Given the description of an element on the screen output the (x, y) to click on. 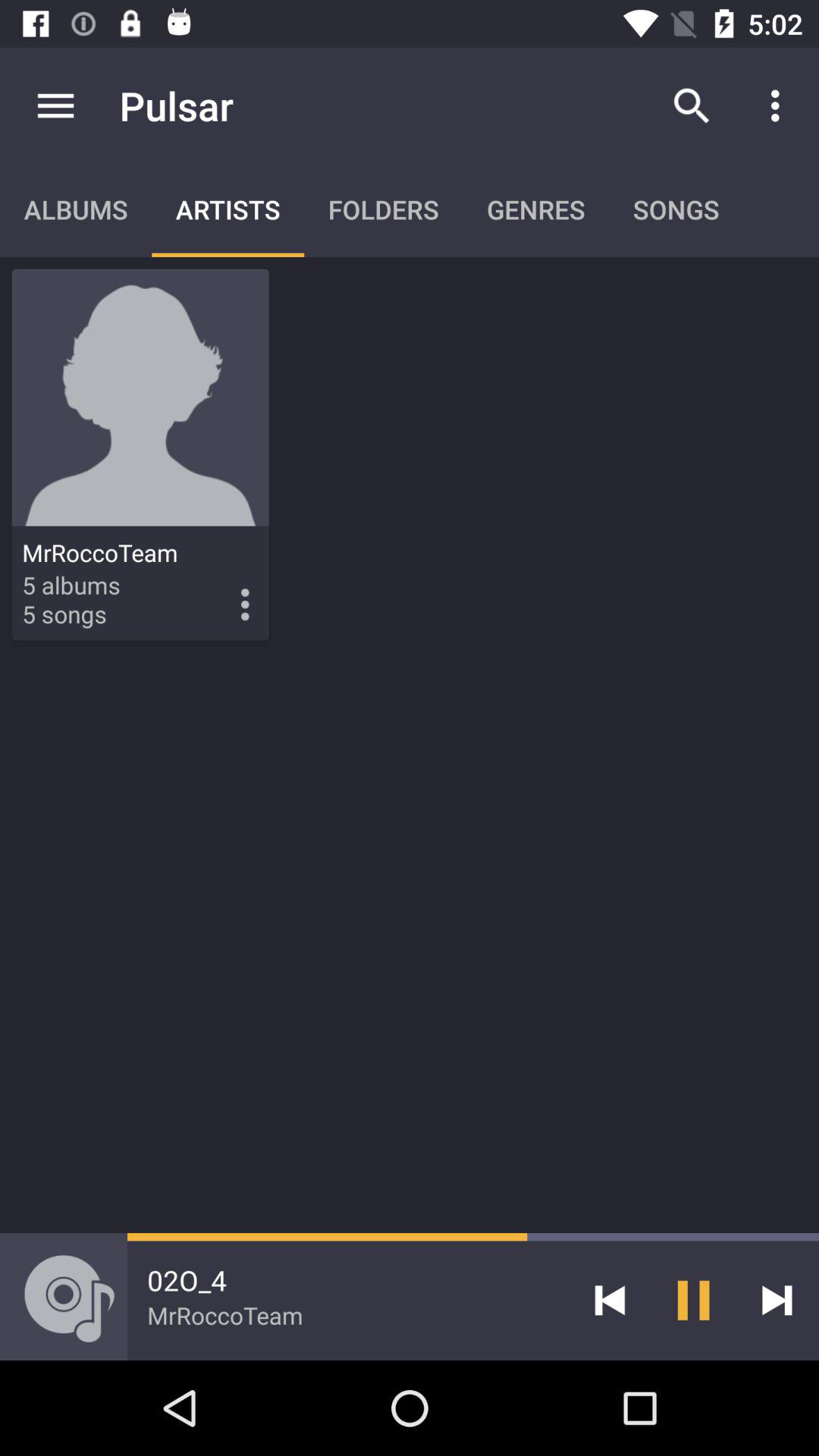
launch item above albums icon (55, 105)
